Given the description of an element on the screen output the (x, y) to click on. 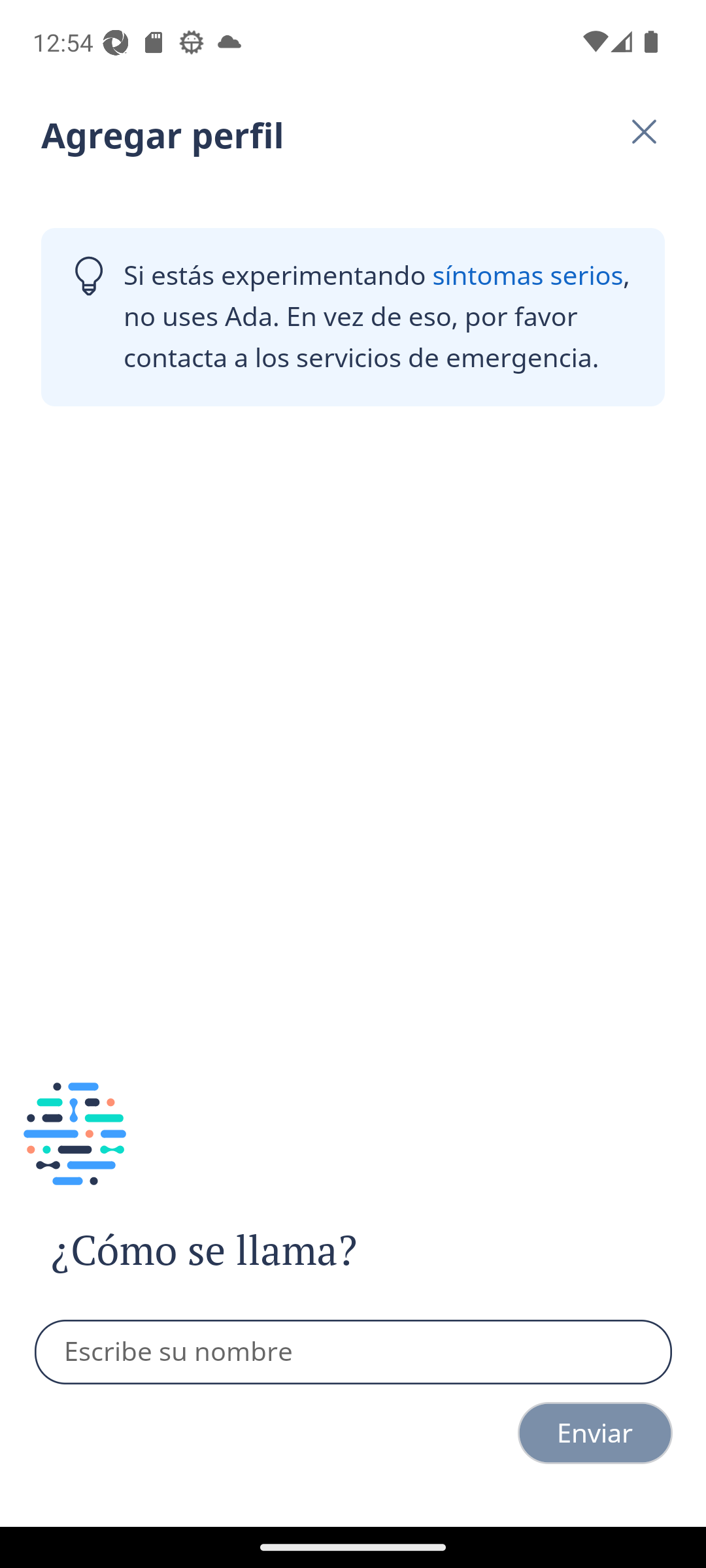
¿Cómo se llama? (240, 1250)
Escribe su nombre (353, 1352)
Enviar (594, 1432)
